Given the description of an element on the screen output the (x, y) to click on. 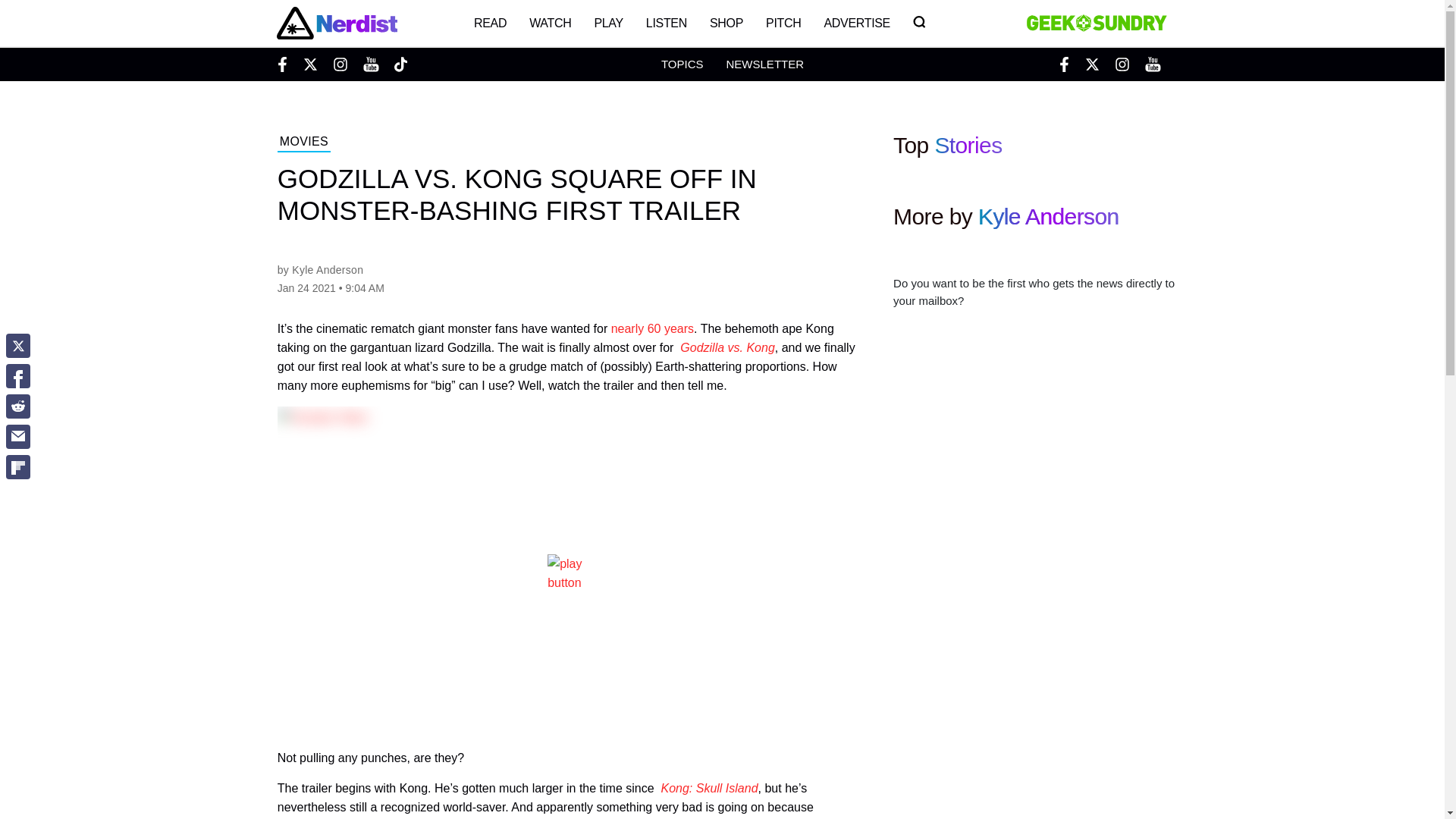
Twitter Nerdist (309, 63)
Kong: Skull Island (709, 788)
WATCH (550, 22)
nearly 60 years (652, 328)
SHOP (726, 22)
ADVERTISE (856, 22)
PLAY (607, 22)
NEWSLETTER (764, 63)
Nerdist (336, 23)
Topics (681, 63)
READ (490, 22)
Twitter Geek and Sundry (1091, 63)
PITCH (783, 22)
PLAY (607, 22)
ADVERTISE (856, 22)
